Given the description of an element on the screen output the (x, y) to click on. 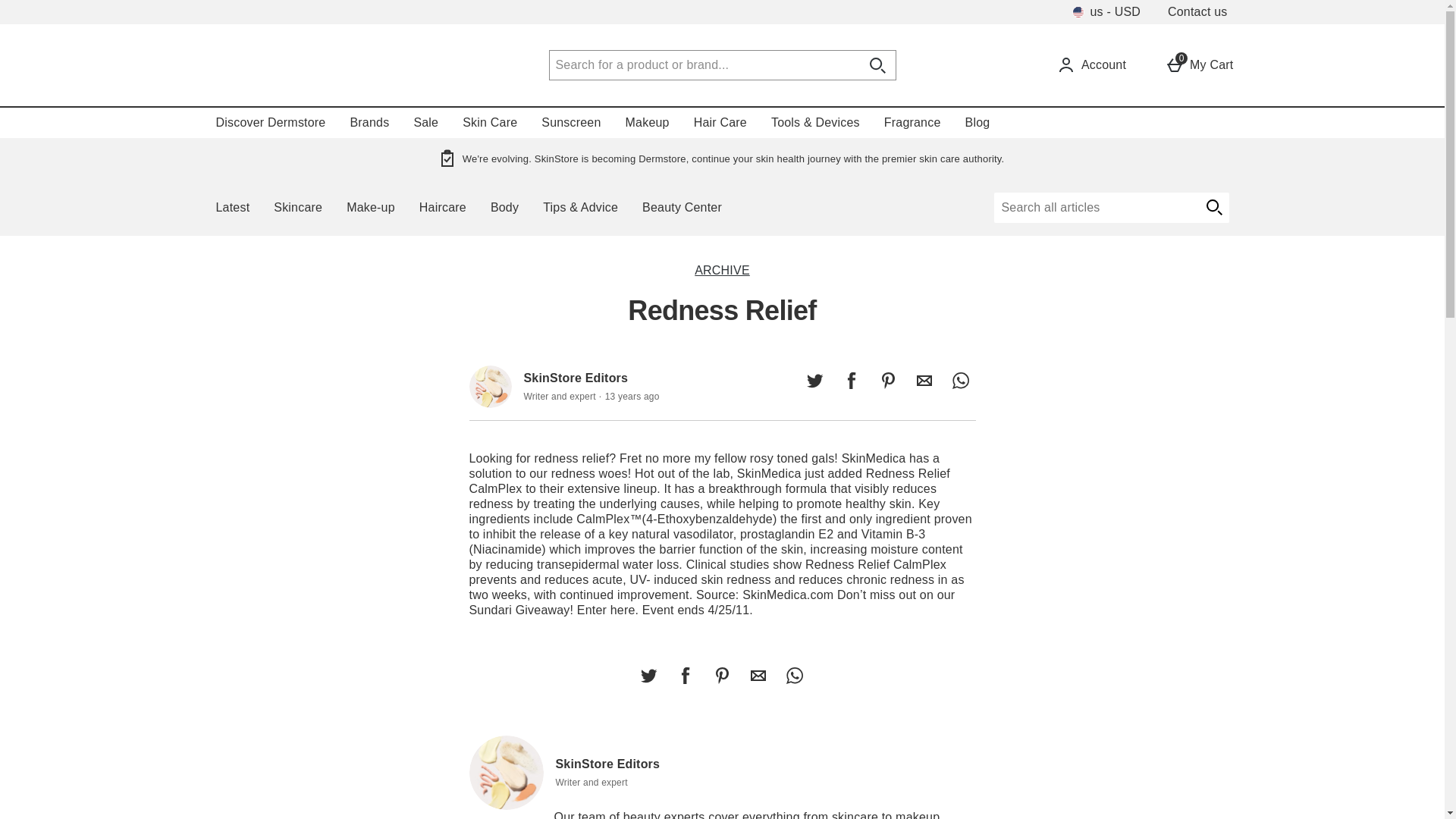
Account (1090, 64)
Share this by Email (923, 380)
SkinStore Editors (489, 386)
Share this by Email (757, 675)
Skip to main content (56, 7)
start article search (1213, 207)
us - USD (1106, 12)
Share this on Twitter (814, 380)
Share this on Pinterest (721, 675)
Search Articles (1095, 207)
Share this on Facebook (1198, 64)
SkinStore Editors (684, 675)
Share this on Twitter (505, 772)
Share this on WhatsApp (648, 675)
